Given the description of an element on the screen output the (x, y) to click on. 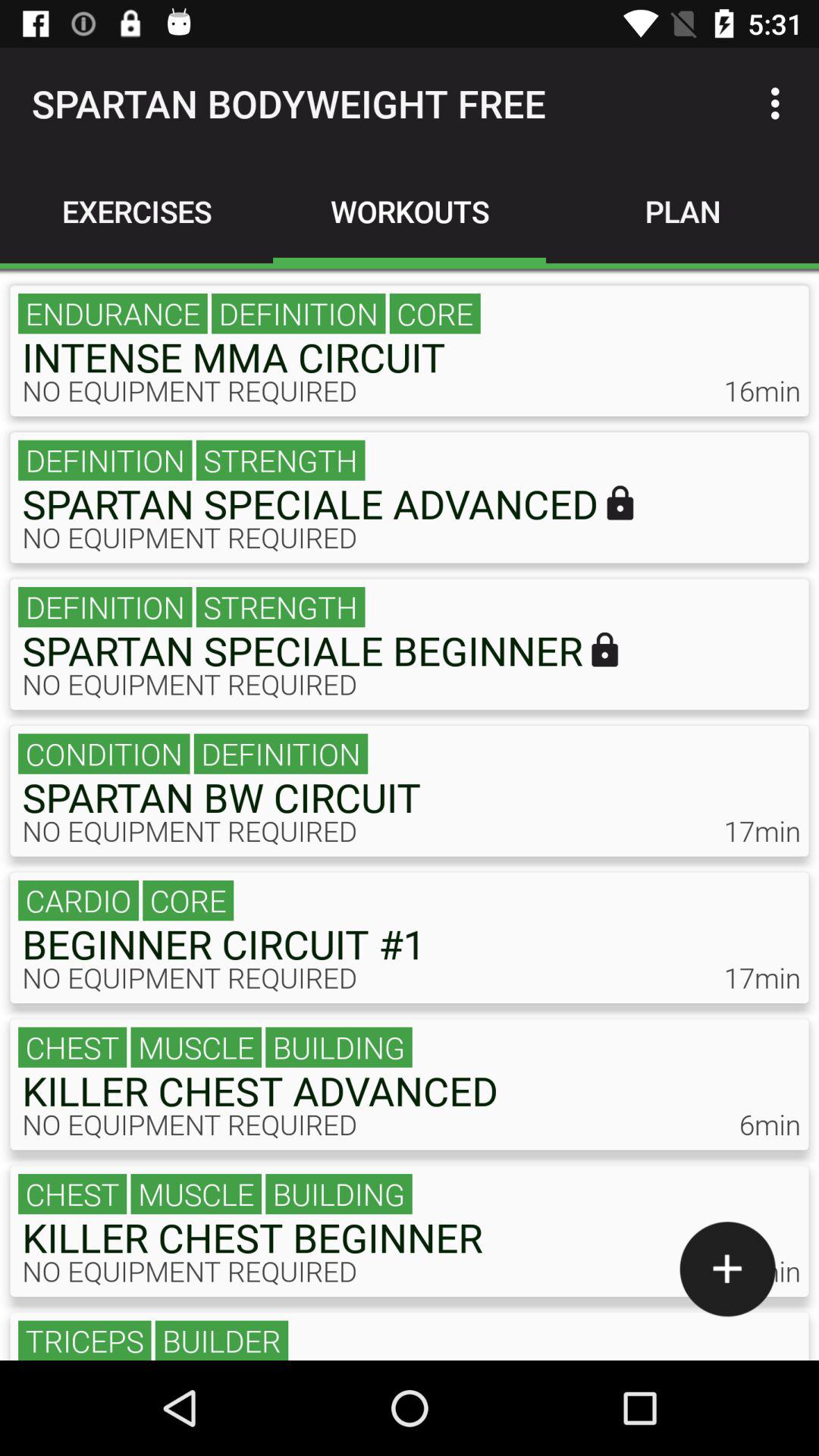
click on spartan bw circuit (409, 791)
